Given the description of an element on the screen output the (x, y) to click on. 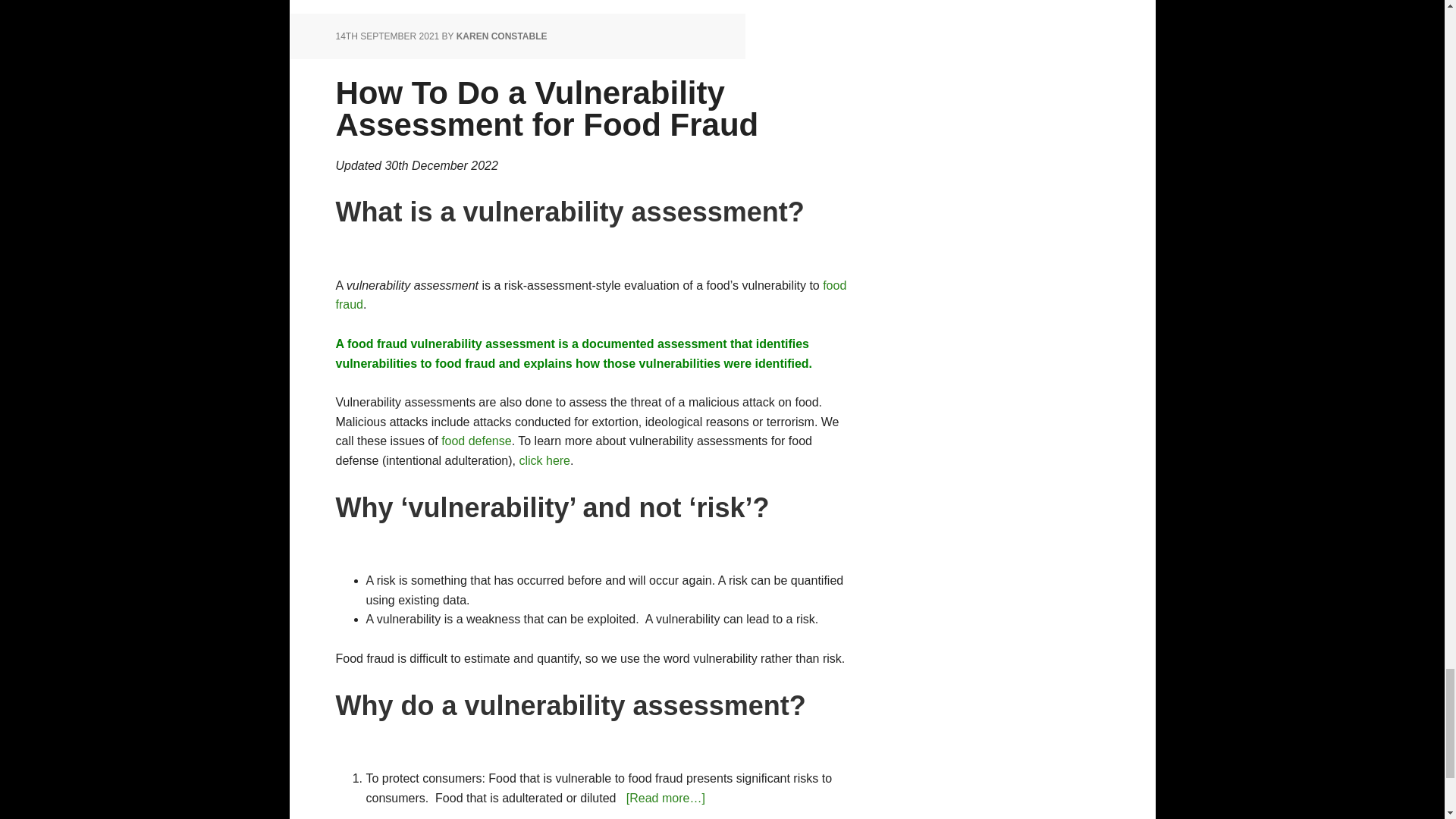
food defense (476, 440)
click here (544, 460)
KAREN CONSTABLE (502, 36)
How To Do a Vulnerability Assessment for Food Fraud (546, 108)
food fraud (589, 295)
